Given the description of an element on the screen output the (x, y) to click on. 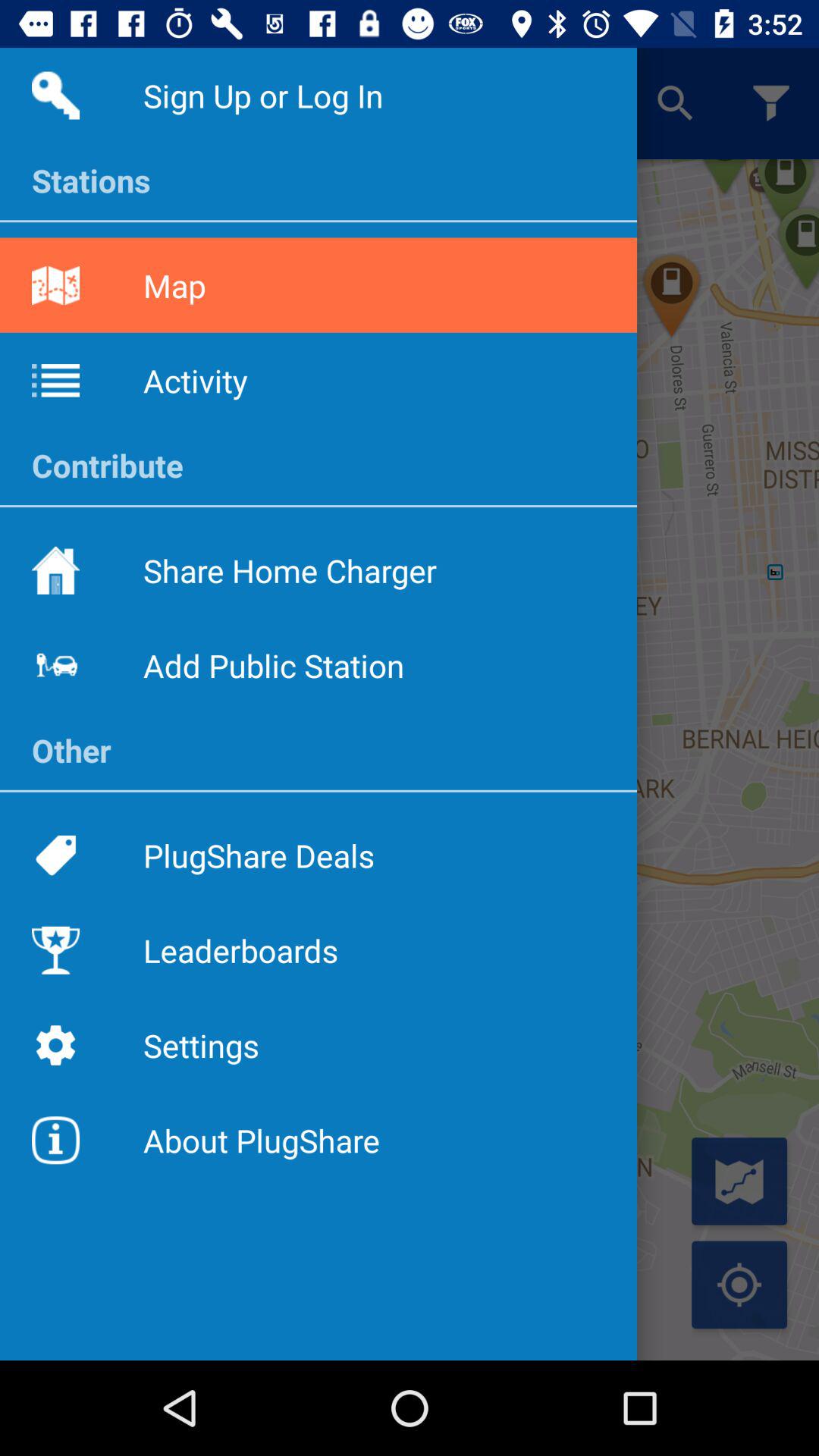
click on the icon beside the text add public station (55, 665)
click on the map icon (55, 286)
